Given the description of an element on the screen output the (x, y) to click on. 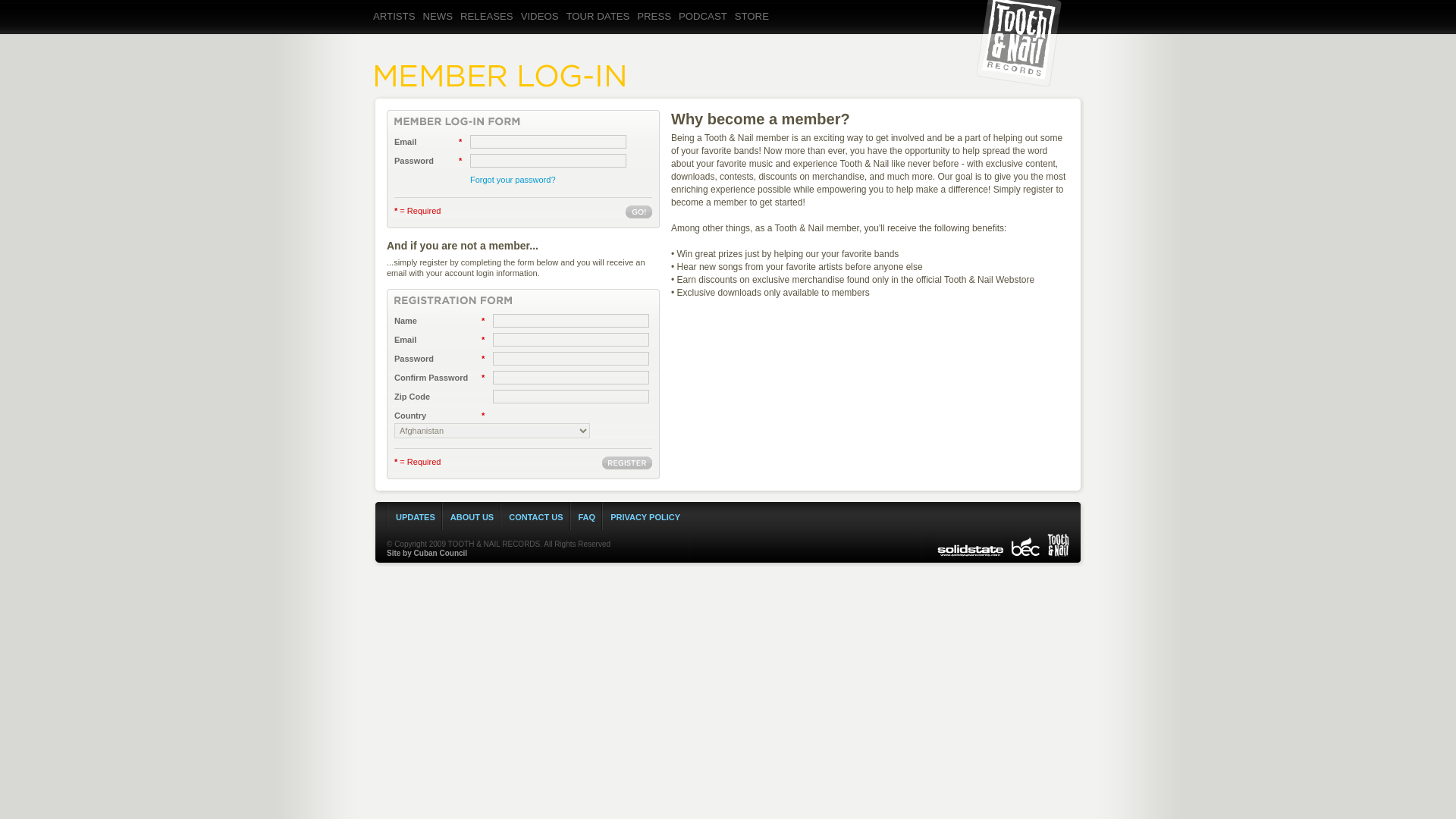
PRIVACY POLICY (644, 516)
STORE (753, 28)
NEWS (439, 28)
VIDEOS (541, 28)
FAQ (586, 516)
RELEASES (488, 28)
Register (627, 462)
CONTACT US (535, 516)
ABOUT US (471, 516)
Forgot your password? (513, 179)
PODCAST (705, 28)
ARTISTS (395, 28)
UPDATES (415, 516)
Site by Cuban Council (427, 552)
Go! (639, 211)
